Given the description of an element on the screen output the (x, y) to click on. 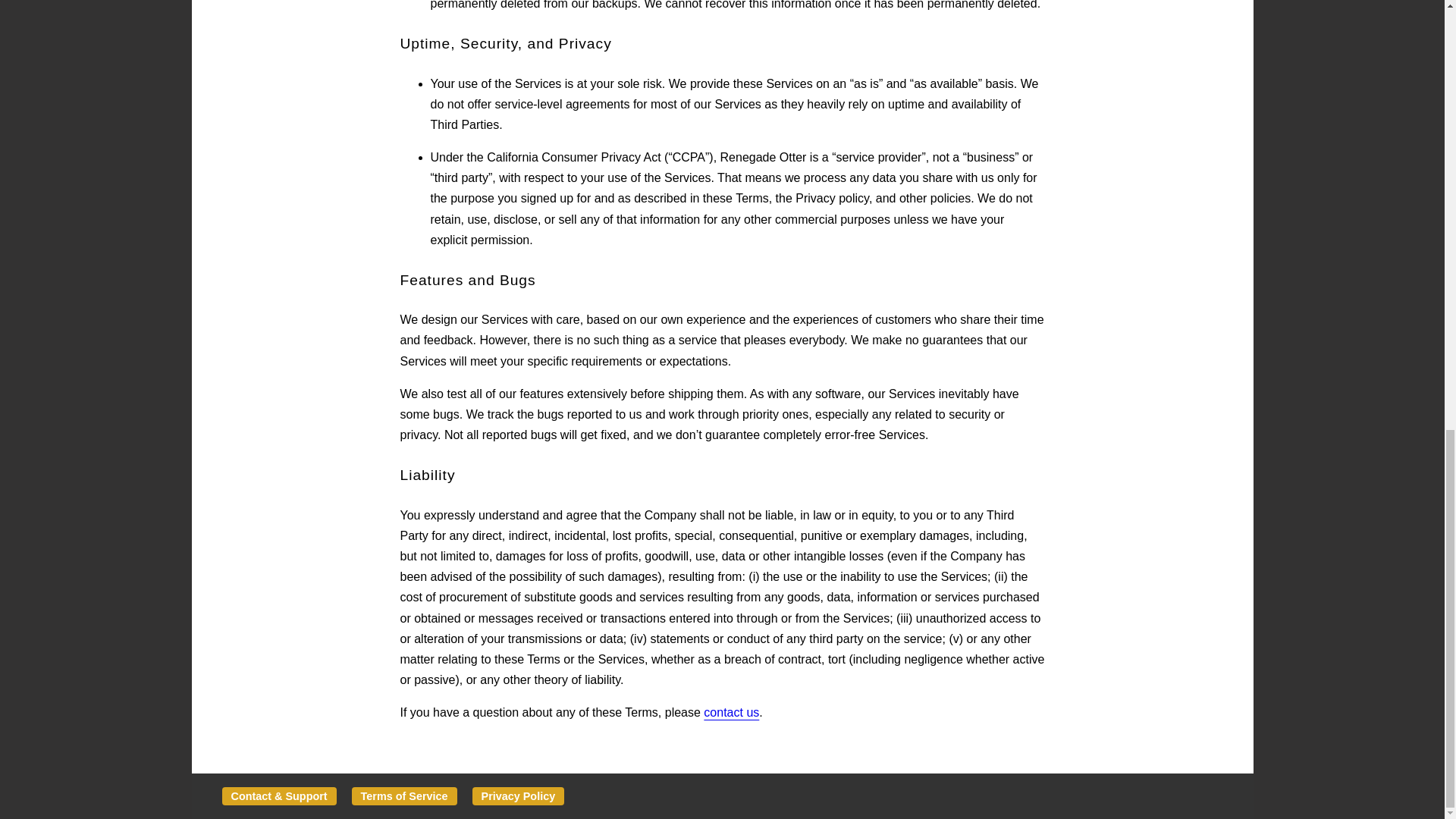
Privacy Policy (517, 795)
Terms of Service (404, 795)
contact us (730, 712)
